Given the description of an element on the screen output the (x, y) to click on. 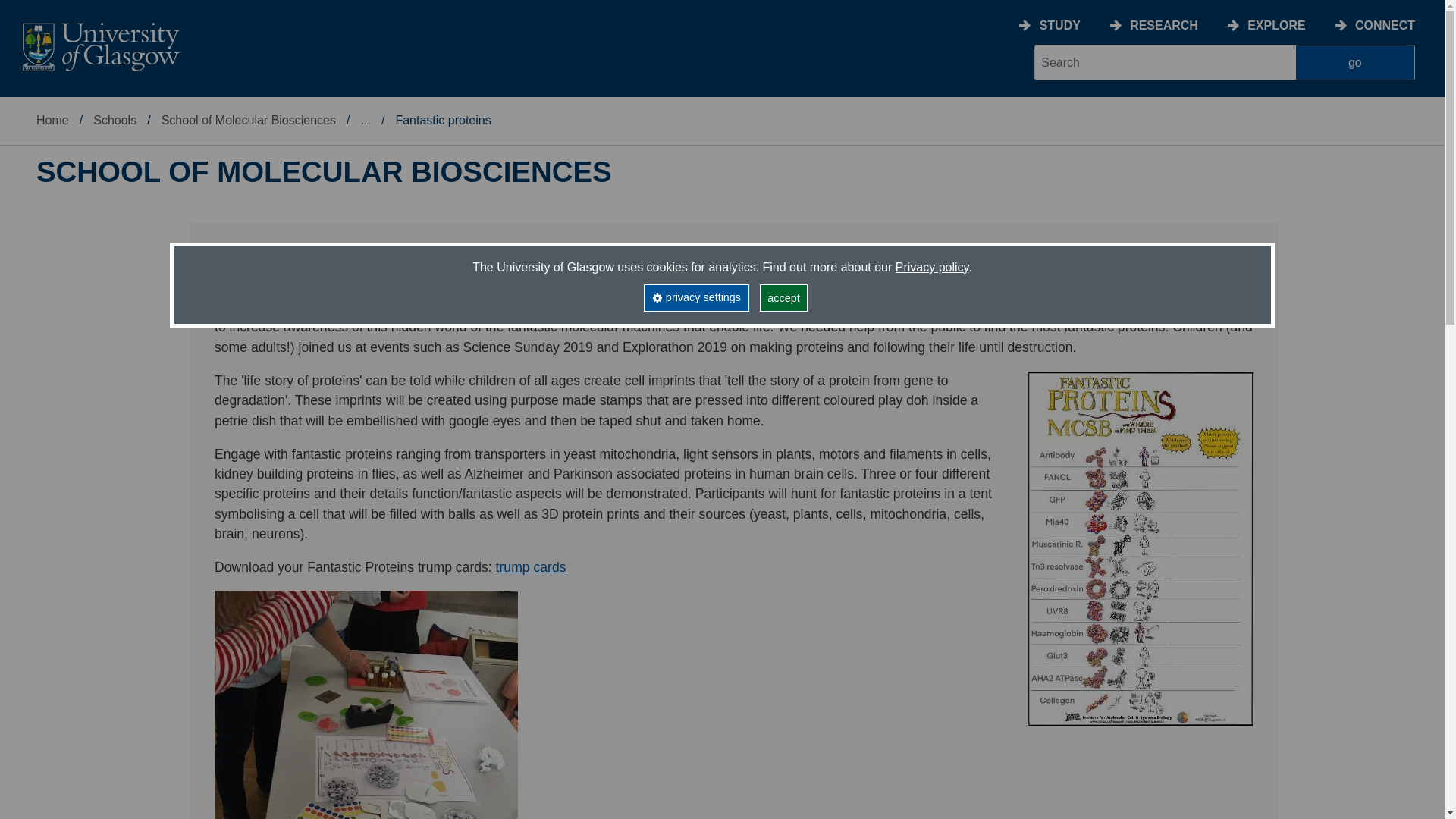
School of Molecular Biosciences (248, 119)
search (1164, 62)
trump cards (531, 566)
privacy settings (695, 298)
Privacy policy (932, 267)
Schools (114, 119)
submit (1355, 62)
go (1355, 62)
CONNECT (1385, 24)
EXPLORE (1275, 24)
go (1355, 62)
STUDY (1059, 24)
SCHOOL OF MOLECULAR BIOSCIENCES (323, 172)
RESEARCH (1163, 24)
Home (52, 119)
